Given the description of an element on the screen output the (x, y) to click on. 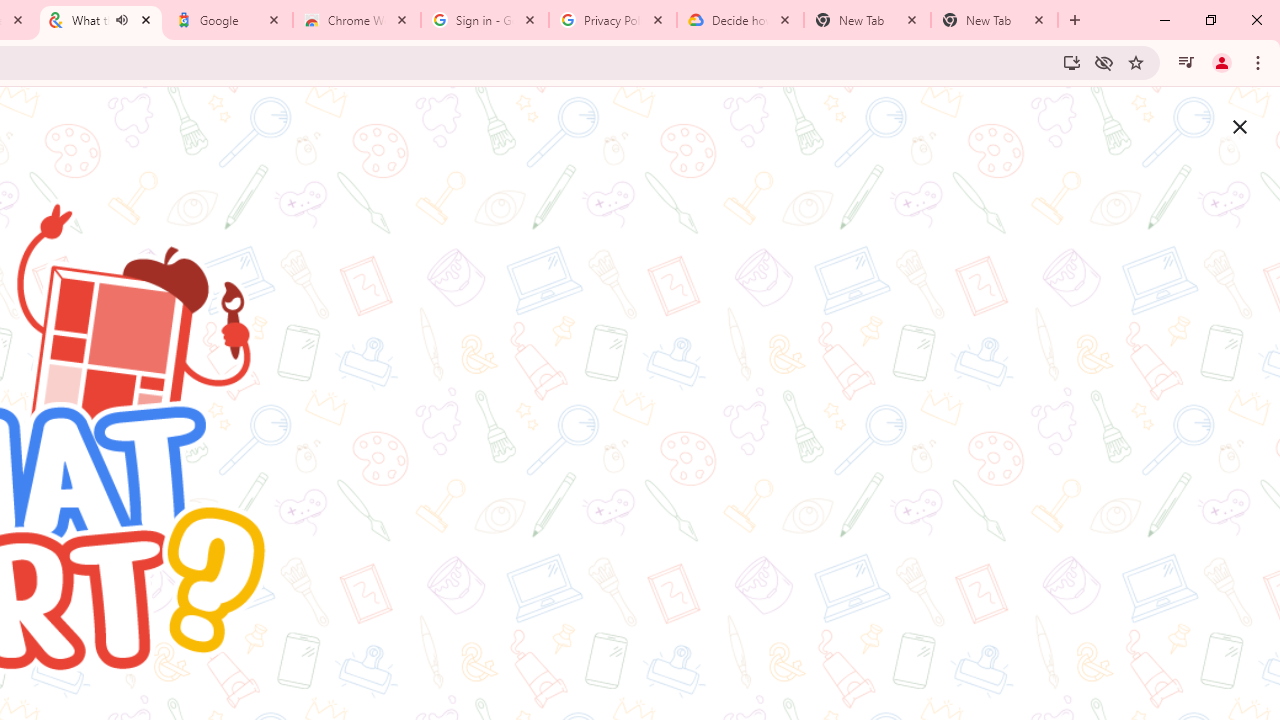
Chrome Web Store - Color themes by Chrome (357, 20)
Quit Game (1240, 126)
Sign in - Google Accounts (485, 20)
Google (229, 20)
New Tab (994, 20)
